Given the description of an element on the screen output the (x, y) to click on. 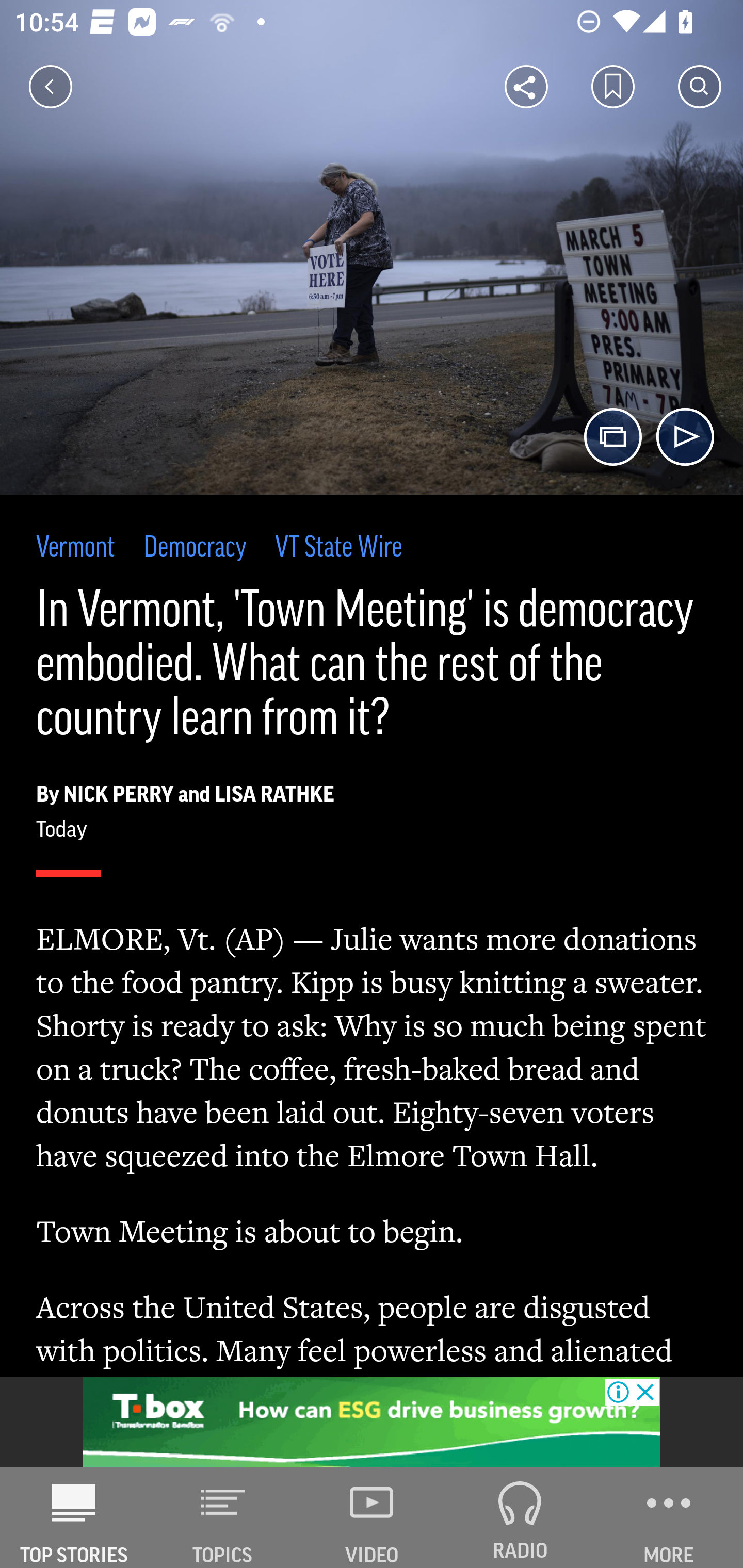
Vermont (75, 548)
Democracy (194, 548)
VT State Wire (338, 548)
sustainability%3FDCSext (371, 1421)
AP News TOP STORIES (74, 1517)
TOPICS (222, 1517)
VIDEO (371, 1517)
RADIO (519, 1517)
MORE (668, 1517)
